Given the description of an element on the screen output the (x, y) to click on. 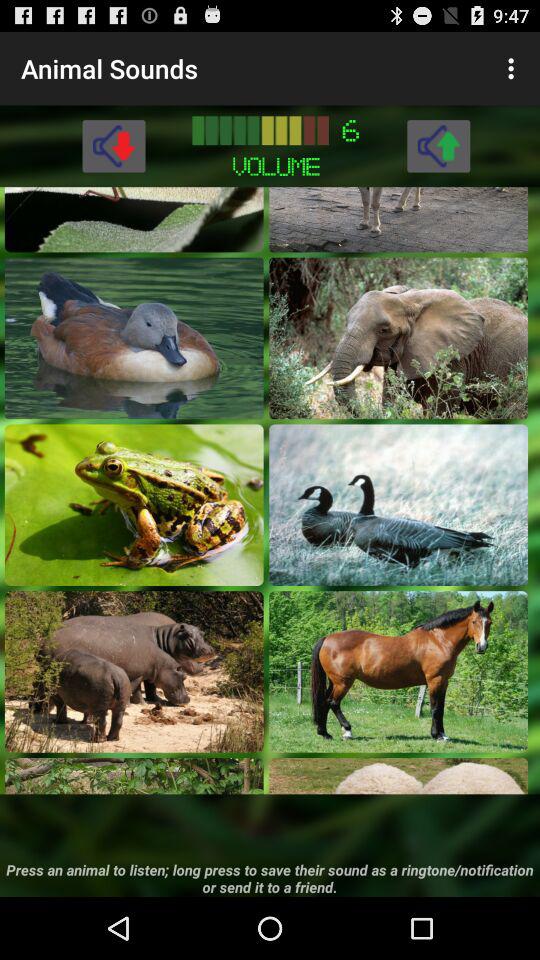
hear an elephant (398, 337)
